Given the description of an element on the screen output the (x, y) to click on. 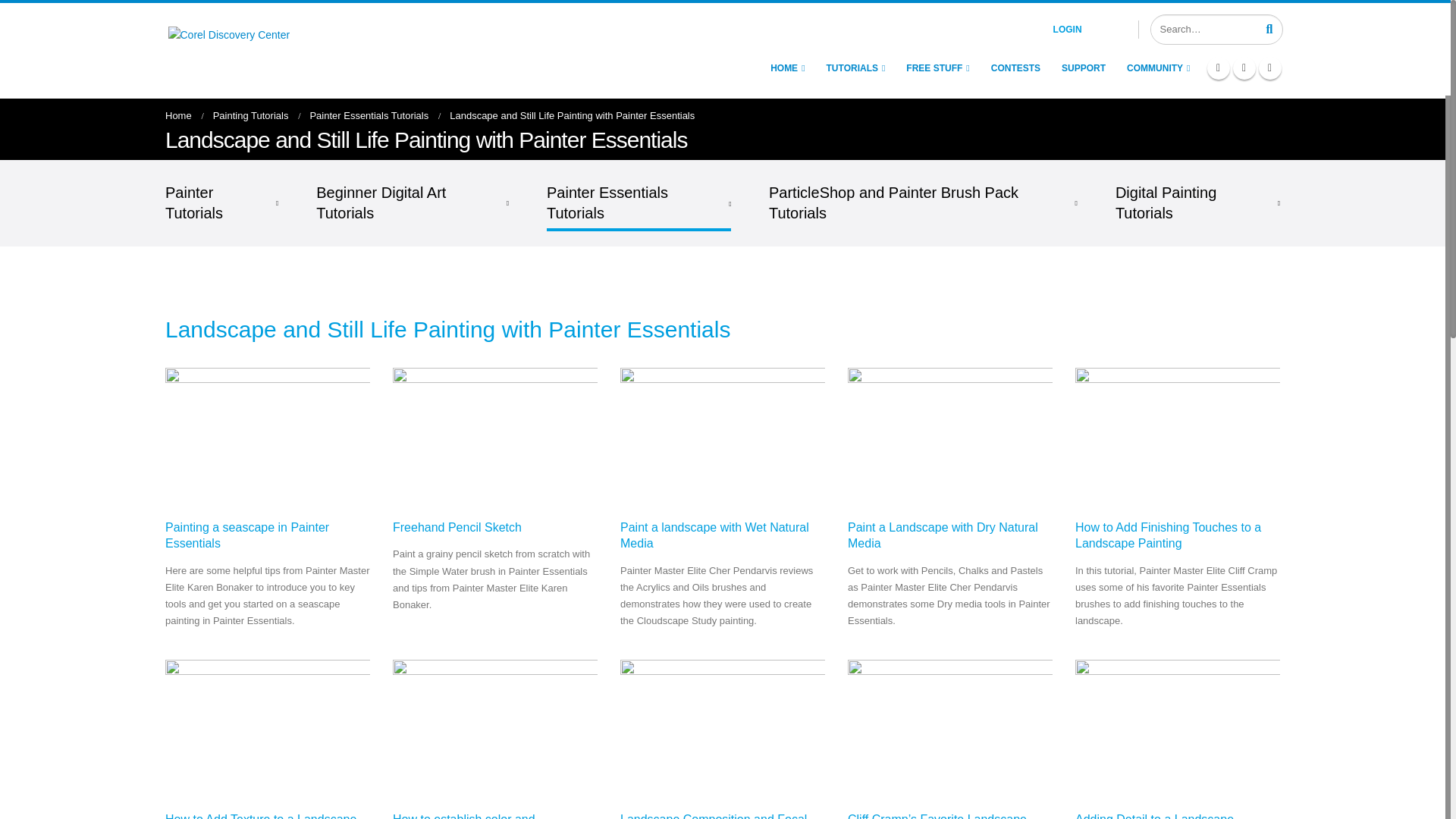
TUTORIALS (855, 68)
Corel Discovery Center (263, 49)
Search (1269, 27)
COMMUNITY (1157, 68)
CONTESTS (1015, 68)
Go to Home Page (178, 115)
SUPPORT (1083, 68)
LOGIN (1085, 29)
FREE STUFF (937, 68)
HOME (786, 68)
